Given the description of an element on the screen output the (x, y) to click on. 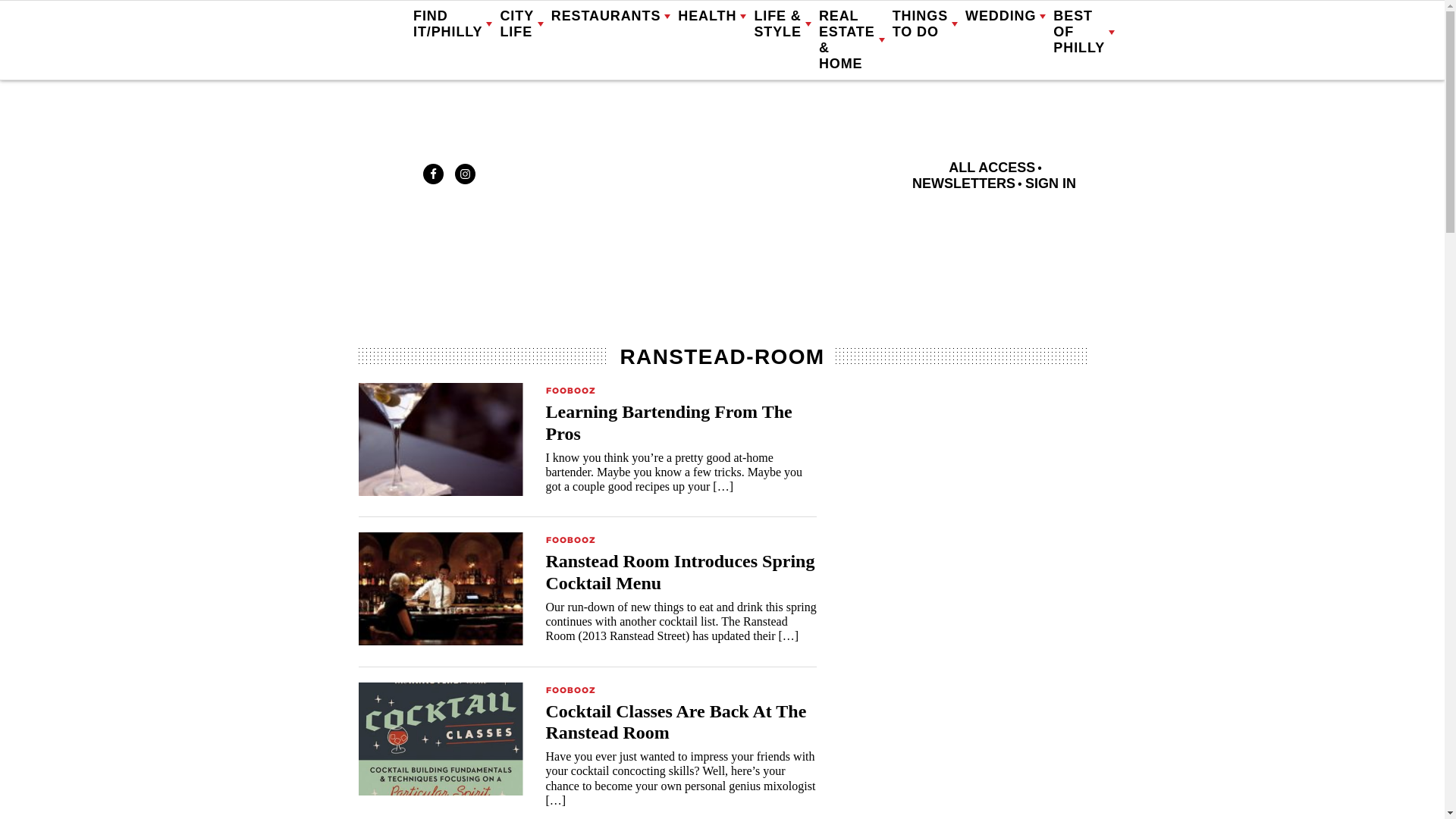
BEST OF PHILLY (1083, 31)
CITY LIFE (521, 23)
3rd party ad content (721, 282)
3rd party ad content (969, 601)
THINGS TO DO (925, 23)
WEDDING (1005, 15)
RESTAURANTS (611, 15)
HEALTH (711, 15)
